Given the description of an element on the screen output the (x, y) to click on. 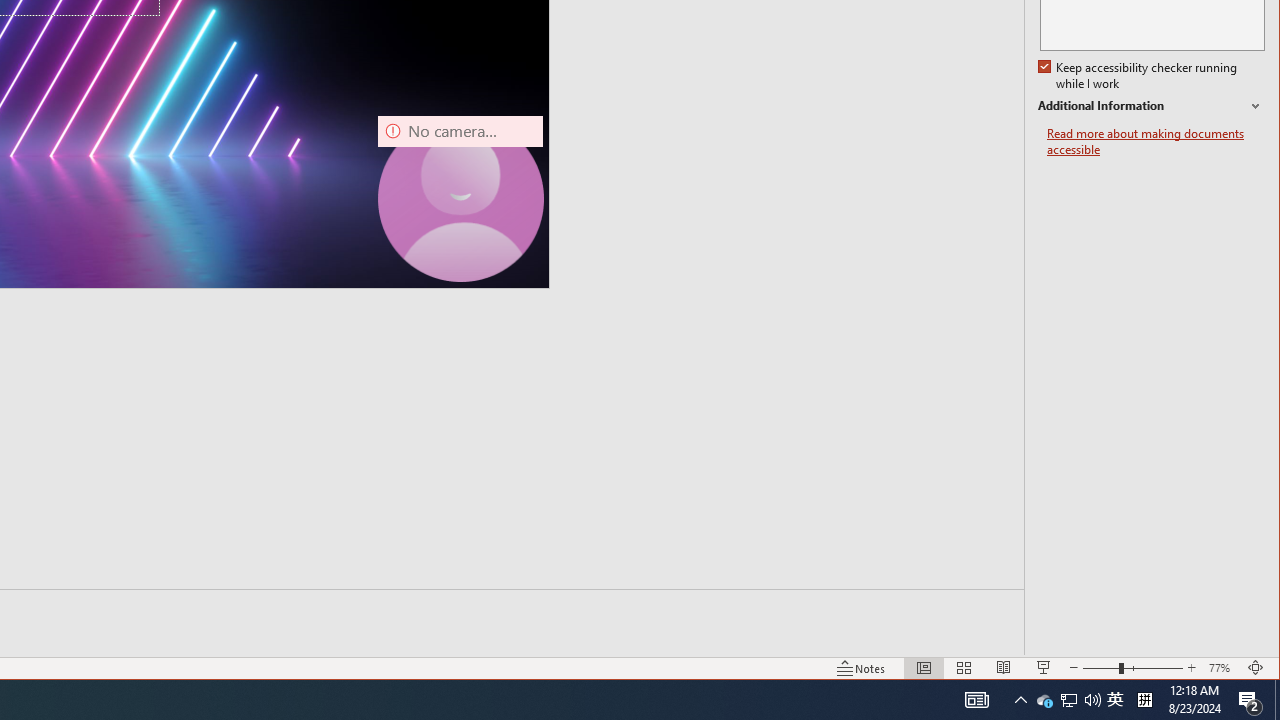
Camera 7, No camera detected. (460, 197)
